Given the description of an element on the screen output the (x, y) to click on. 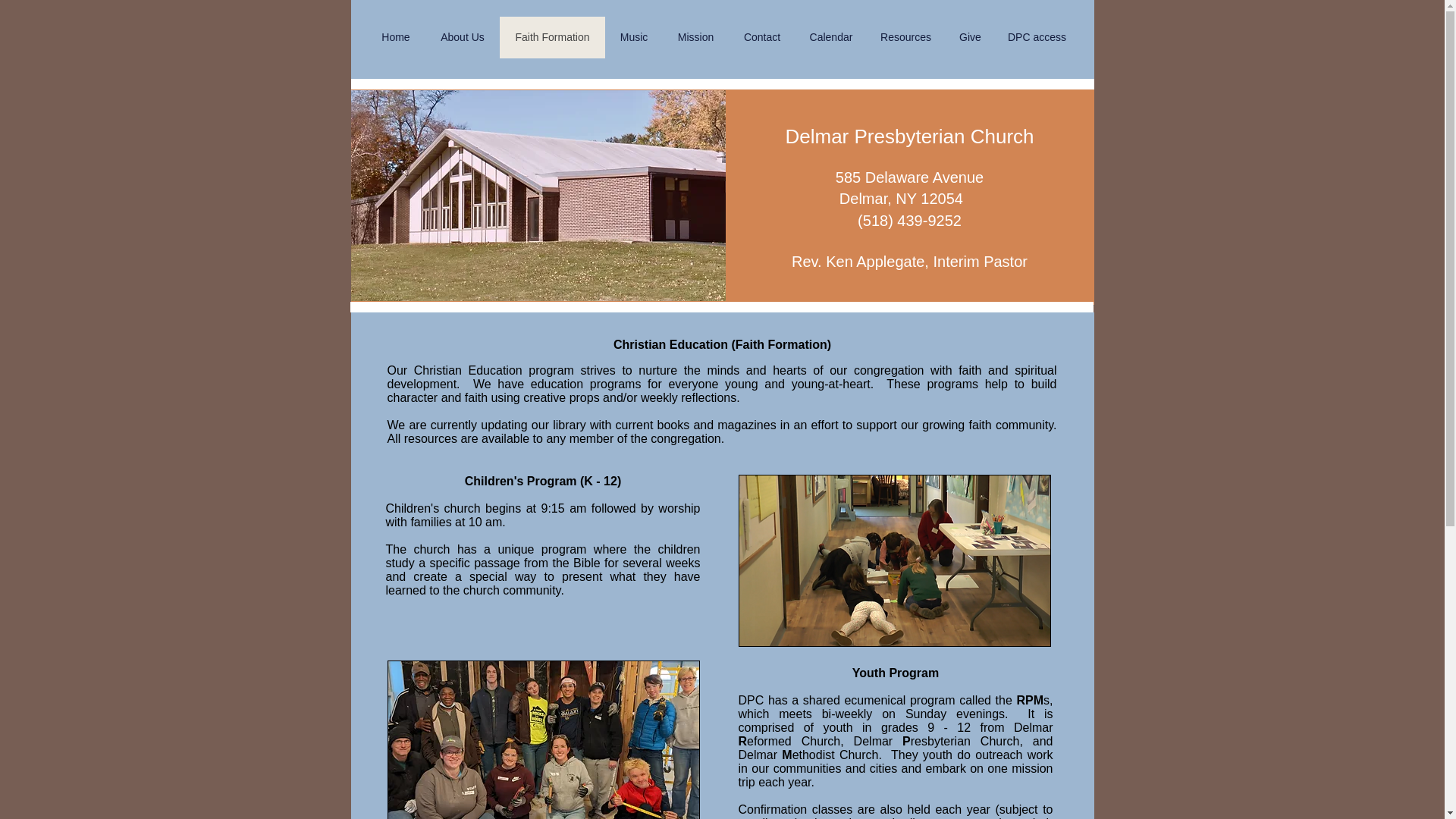
Mission (695, 37)
About Us (462, 37)
Give (969, 37)
Contact (761, 37)
Home (395, 37)
Resources (904, 37)
Faith Formation (551, 37)
DPC access (1035, 37)
Calendar (830, 37)
Music (633, 37)
